Given the description of an element on the screen output the (x, y) to click on. 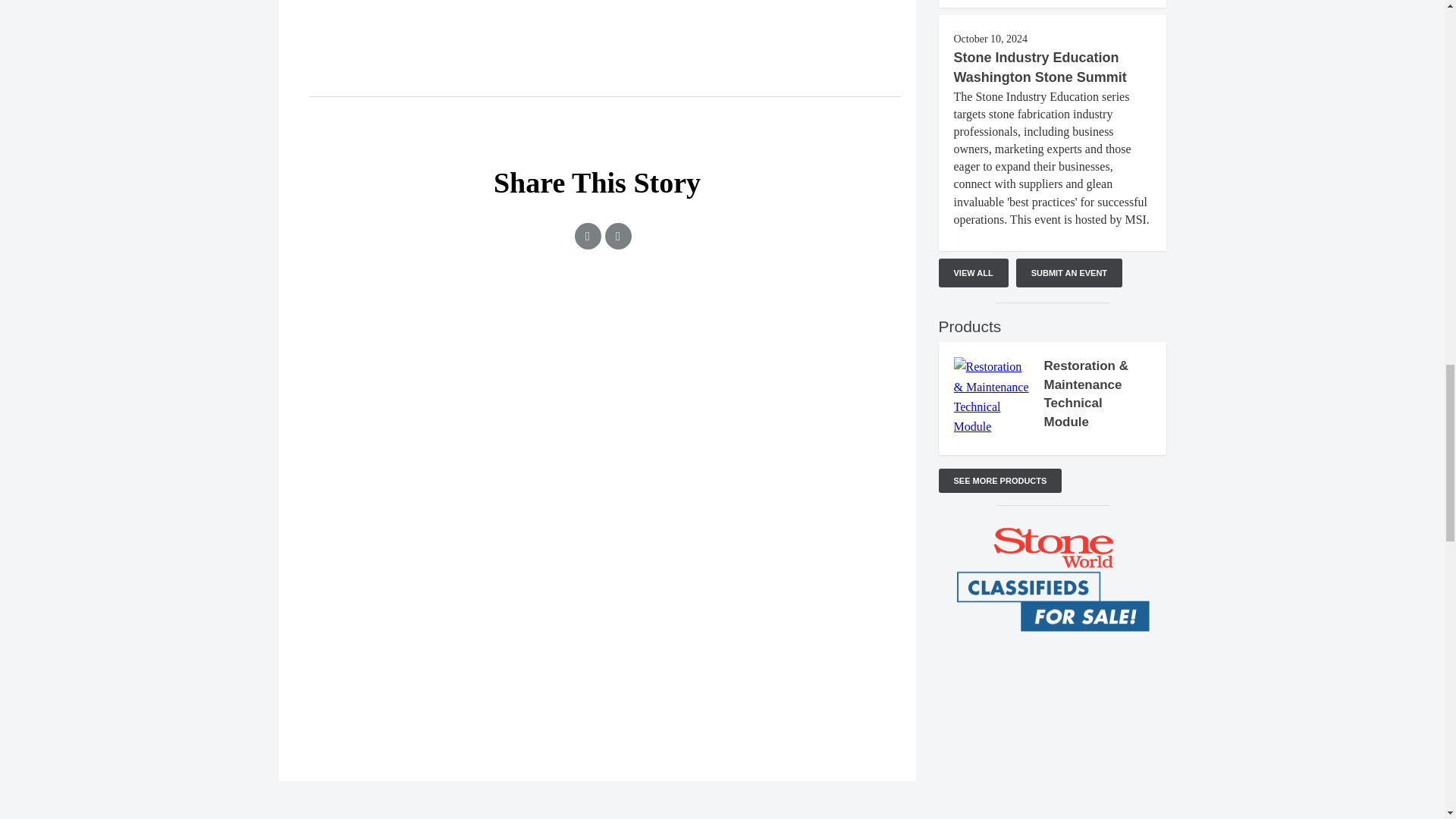
Interaction questions (597, 354)
Stone Industry Education Washington Stone Summit (1039, 67)
Interaction questions (1052, 719)
